Given the description of an element on the screen output the (x, y) to click on. 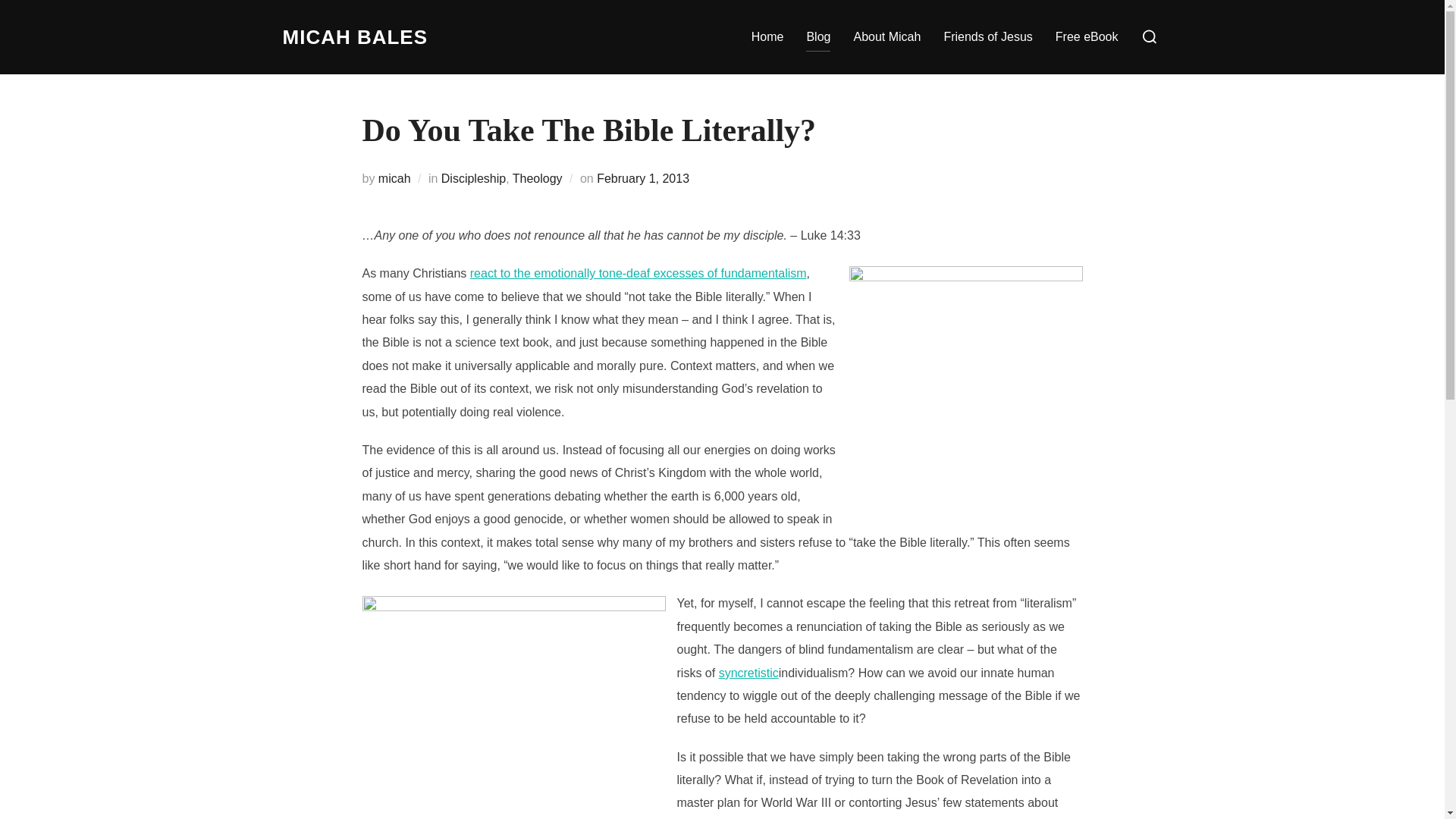
MICAH BALES (355, 37)
Discipleship (473, 178)
Theology (537, 178)
Friends of Jesus (987, 36)
Free eBook (1086, 36)
About Micah (886, 36)
micah (394, 178)
Home (767, 36)
syncretistic (748, 672)
February 1, 2013 (642, 178)
